Given the description of an element on the screen output the (x, y) to click on. 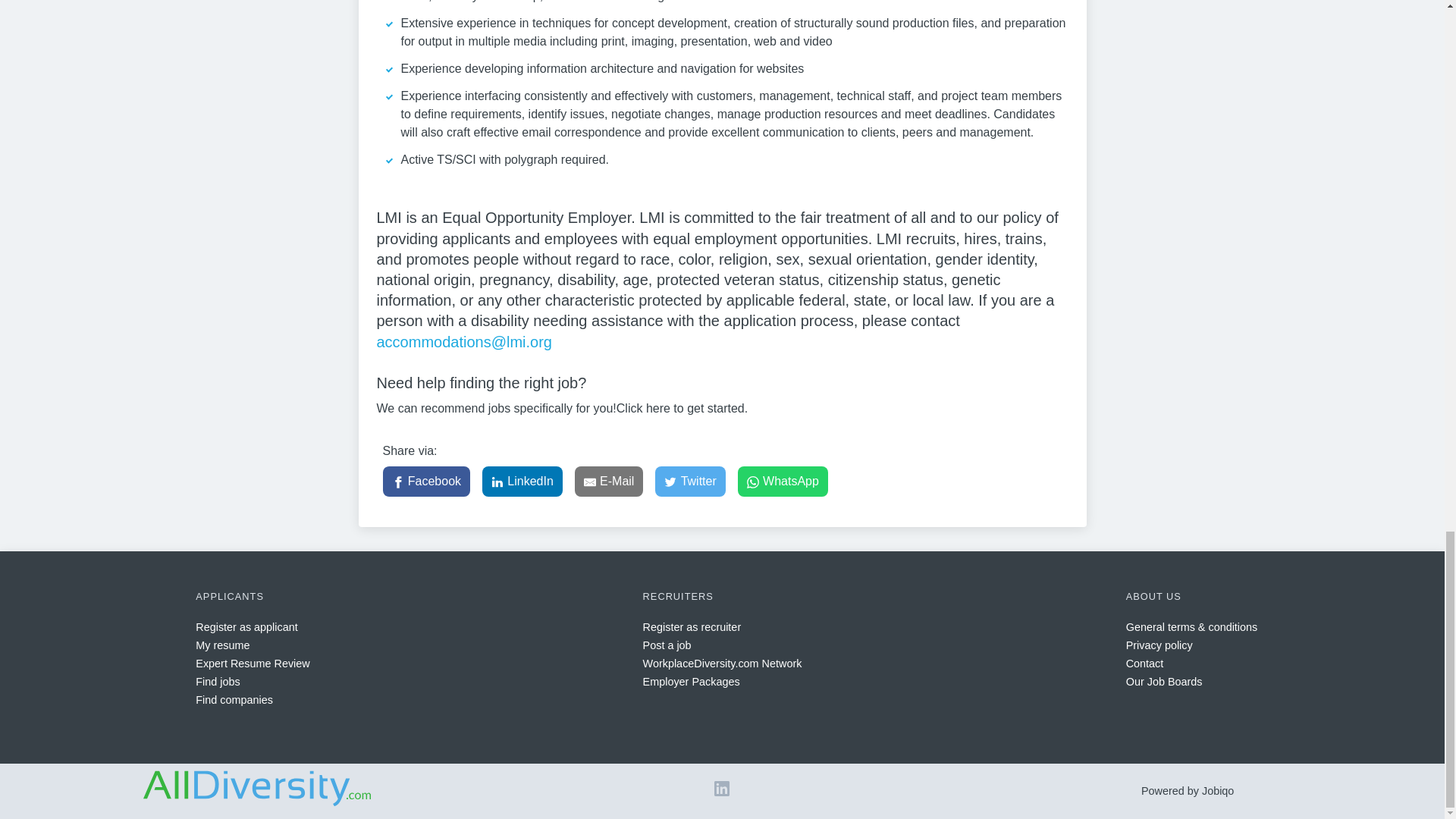
Our Job Boards (1163, 681)
LinkedIn logo (721, 792)
Facebook (425, 481)
LinkedIn (521, 481)
Expert Resume Review (251, 663)
My resume (221, 645)
Twitter (690, 481)
WorkplaceDiversity.com Network (722, 663)
Powered by Jobiqo (1187, 790)
E-Mail (609, 481)
Register as applicant (246, 626)
Find companies (234, 699)
Register as recruiter (692, 626)
Privacy policy (1158, 645)
Contact (1144, 663)
